Given the description of an element on the screen output the (x, y) to click on. 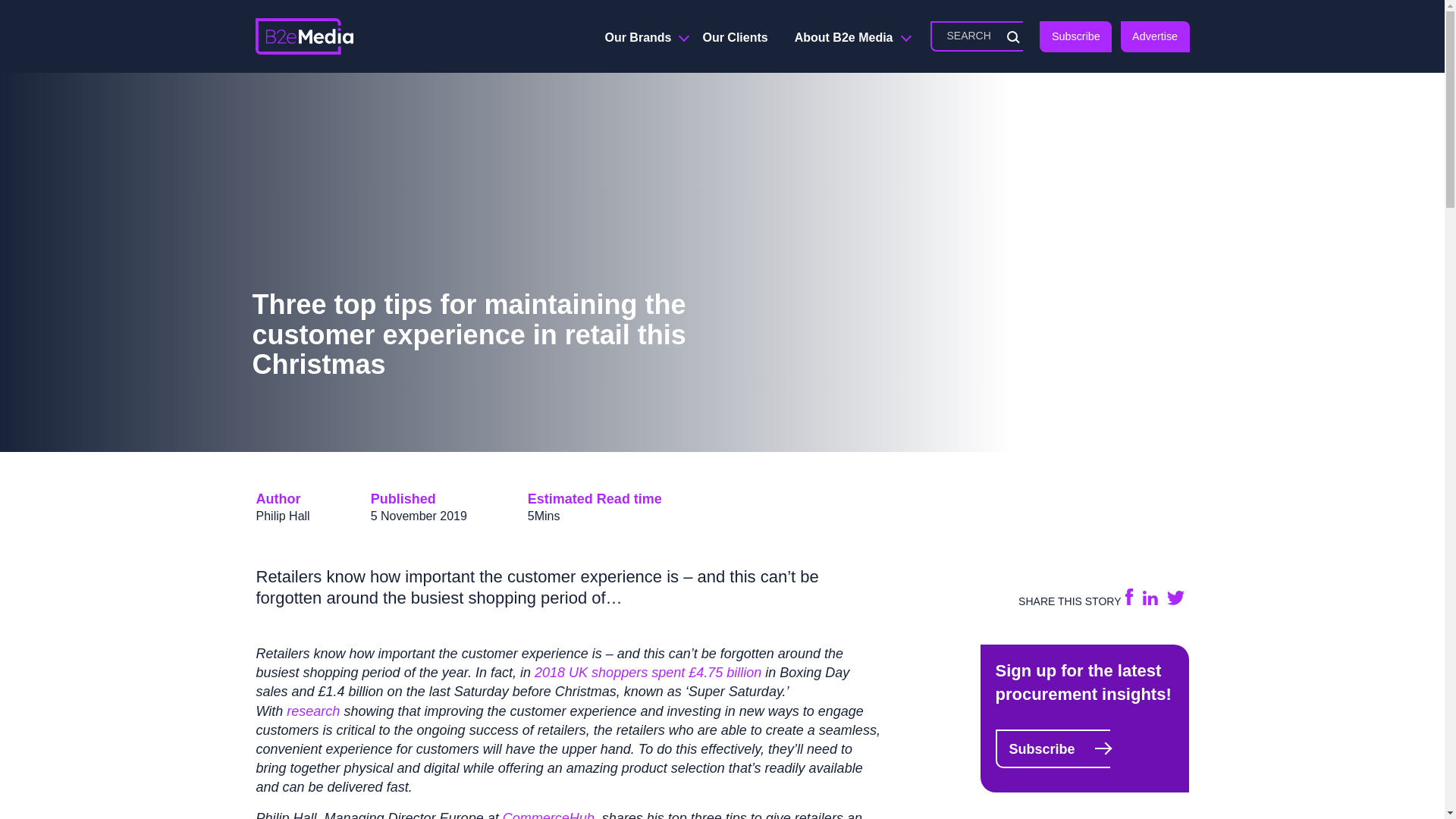
Subscribe (1075, 36)
About B2e Media (846, 37)
Advertise (1155, 36)
Our Brands (639, 37)
Our Clients (734, 37)
